Given the description of an element on the screen output the (x, y) to click on. 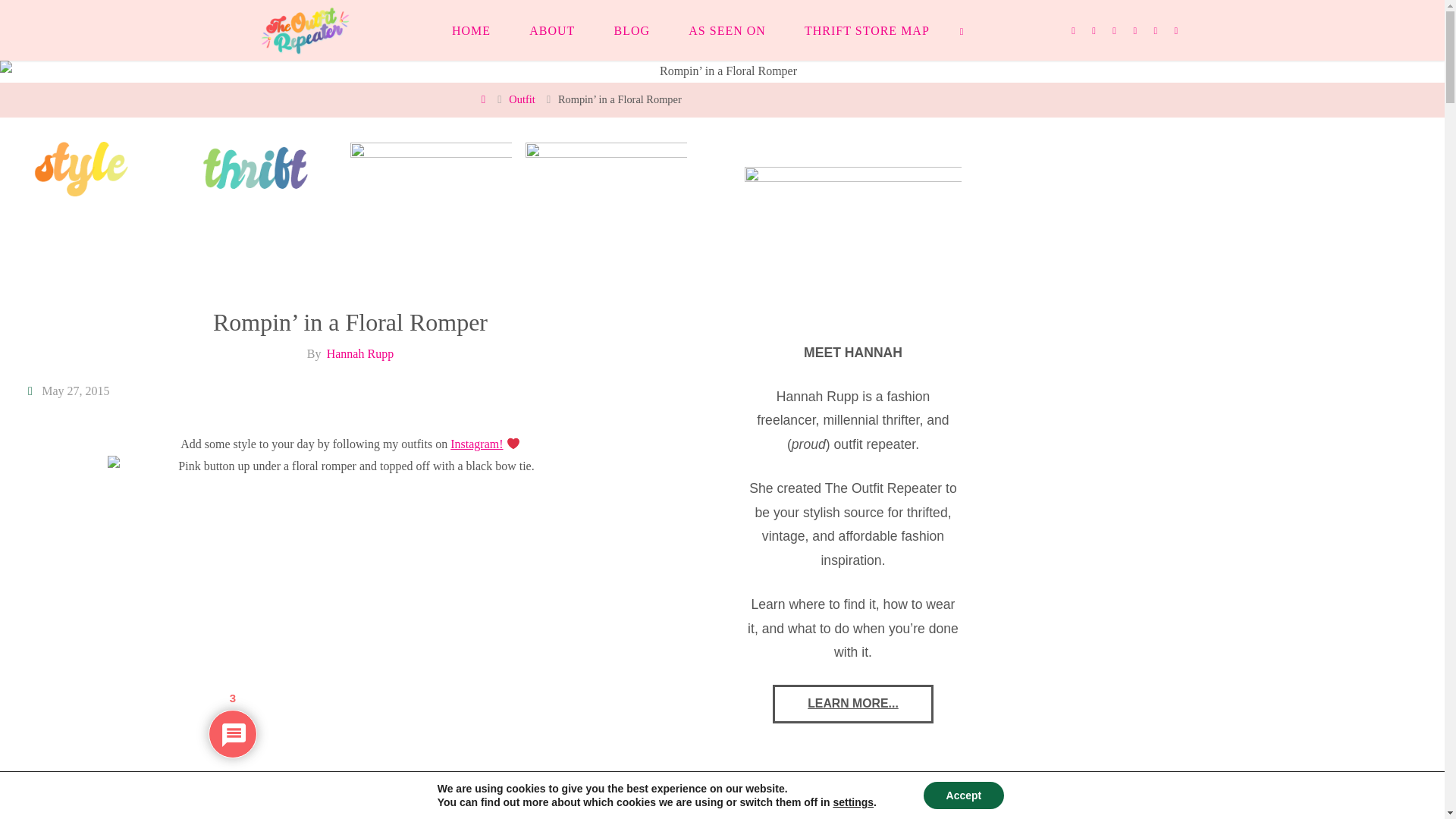
Instagram! (475, 443)
THRIFT STORE MAP (866, 30)
ABOUT (552, 30)
The Outfit Repeater (304, 29)
Hannah Rupp (359, 353)
Outfit (521, 99)
AS SEEN ON (727, 30)
HOME (470, 30)
BLOG (631, 30)
